Given the description of an element on the screen output the (x, y) to click on. 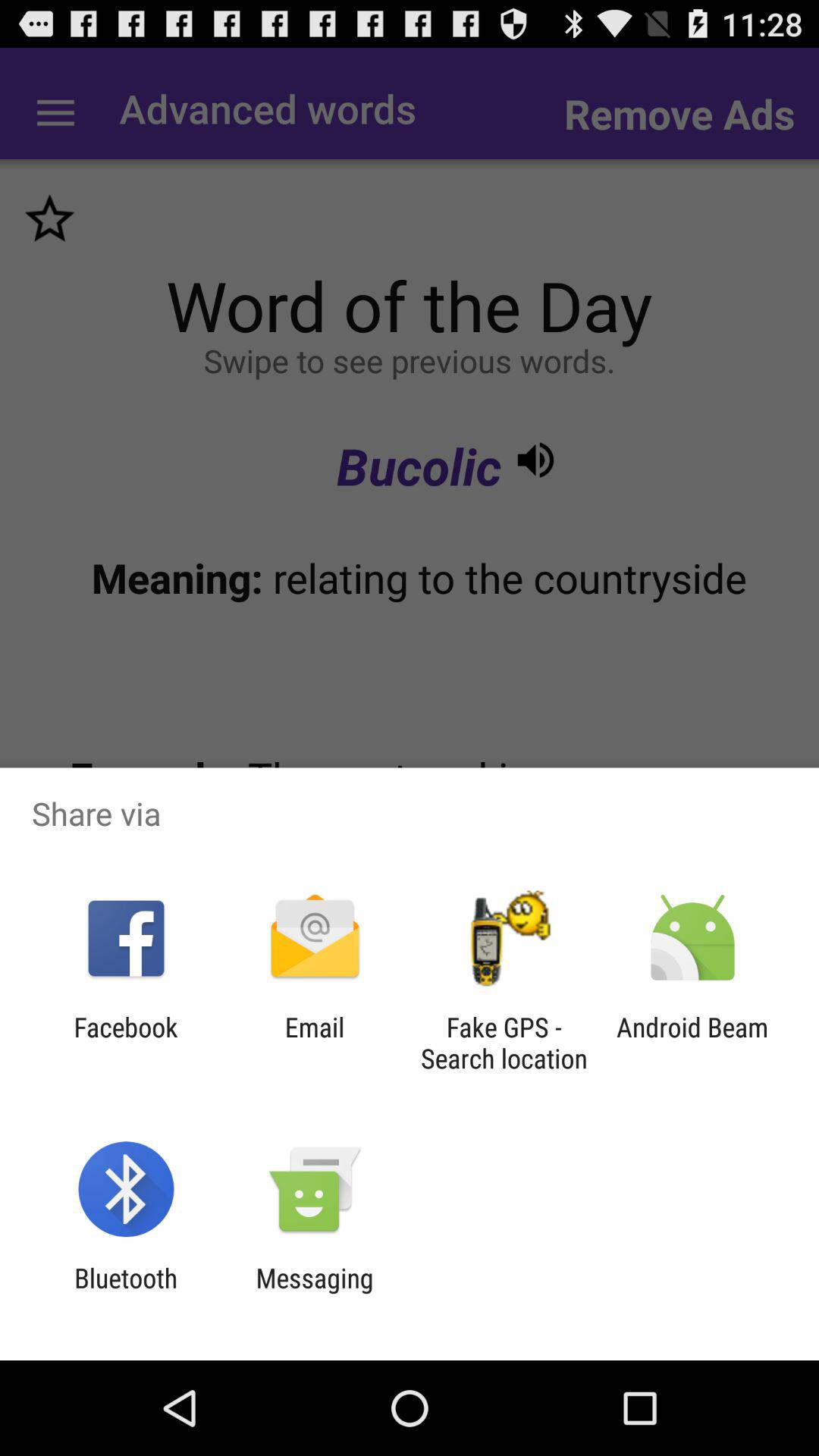
flip to the messaging app (314, 1293)
